Given the description of an element on the screen output the (x, y) to click on. 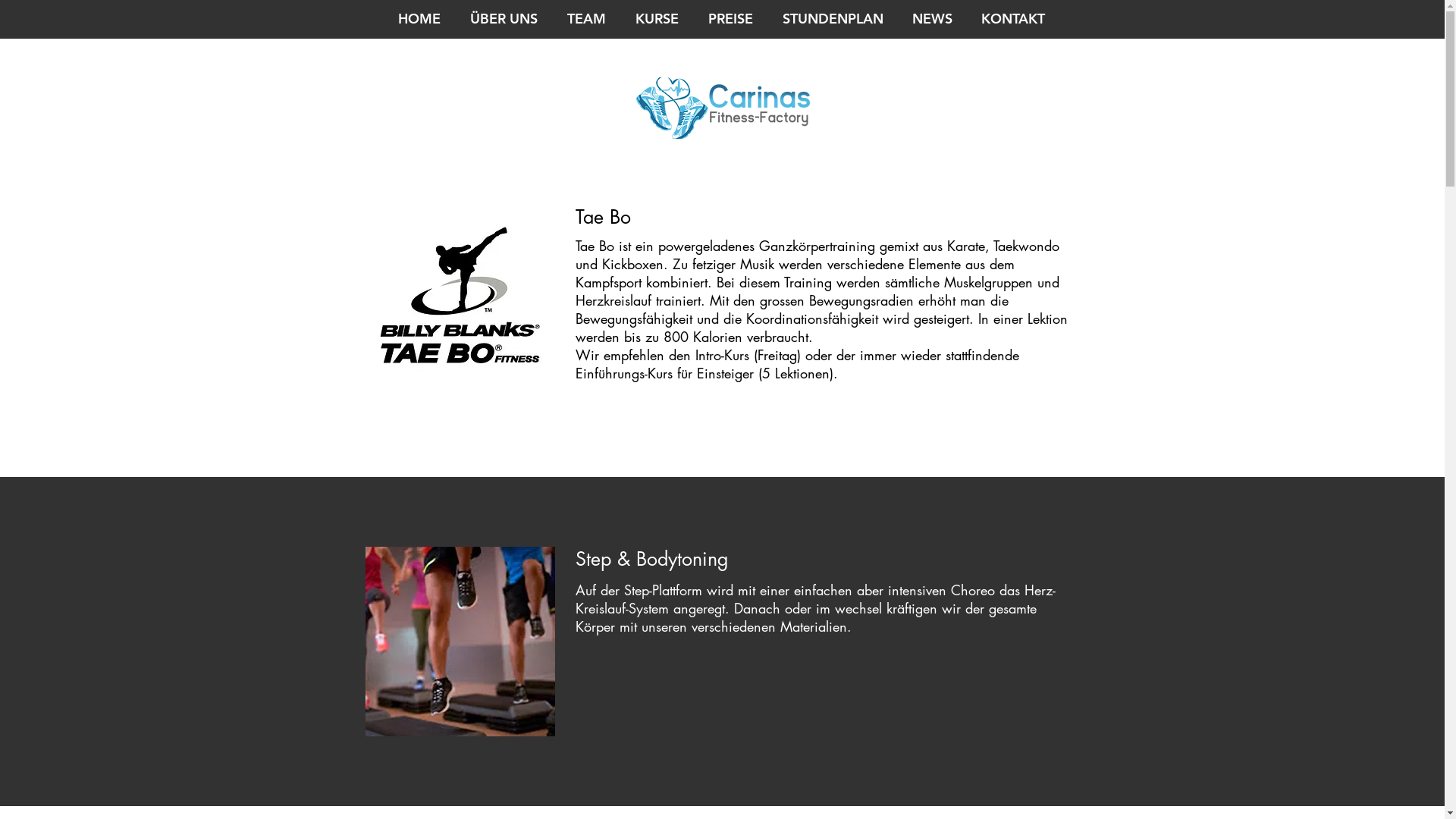
NEWS Element type: text (930, 18)
NEWS Element type: text (931, 18)
STUNDENPLAN Element type: text (832, 18)
HOME Element type: text (418, 18)
TEAM Element type: text (584, 18)
HOME Element type: text (416, 18)
KONTAKT Element type: text (1010, 18)
KONTAKT Element type: text (1012, 18)
0 Element type: text (1080, 18)
TEAM Element type: text (586, 18)
PREISE Element type: text (728, 18)
STUNDENPLAN Element type: text (830, 18)
PREISE Element type: text (730, 18)
KURSE Element type: text (654, 18)
KURSE Element type: text (656, 18)
